Given the description of an element on the screen output the (x, y) to click on. 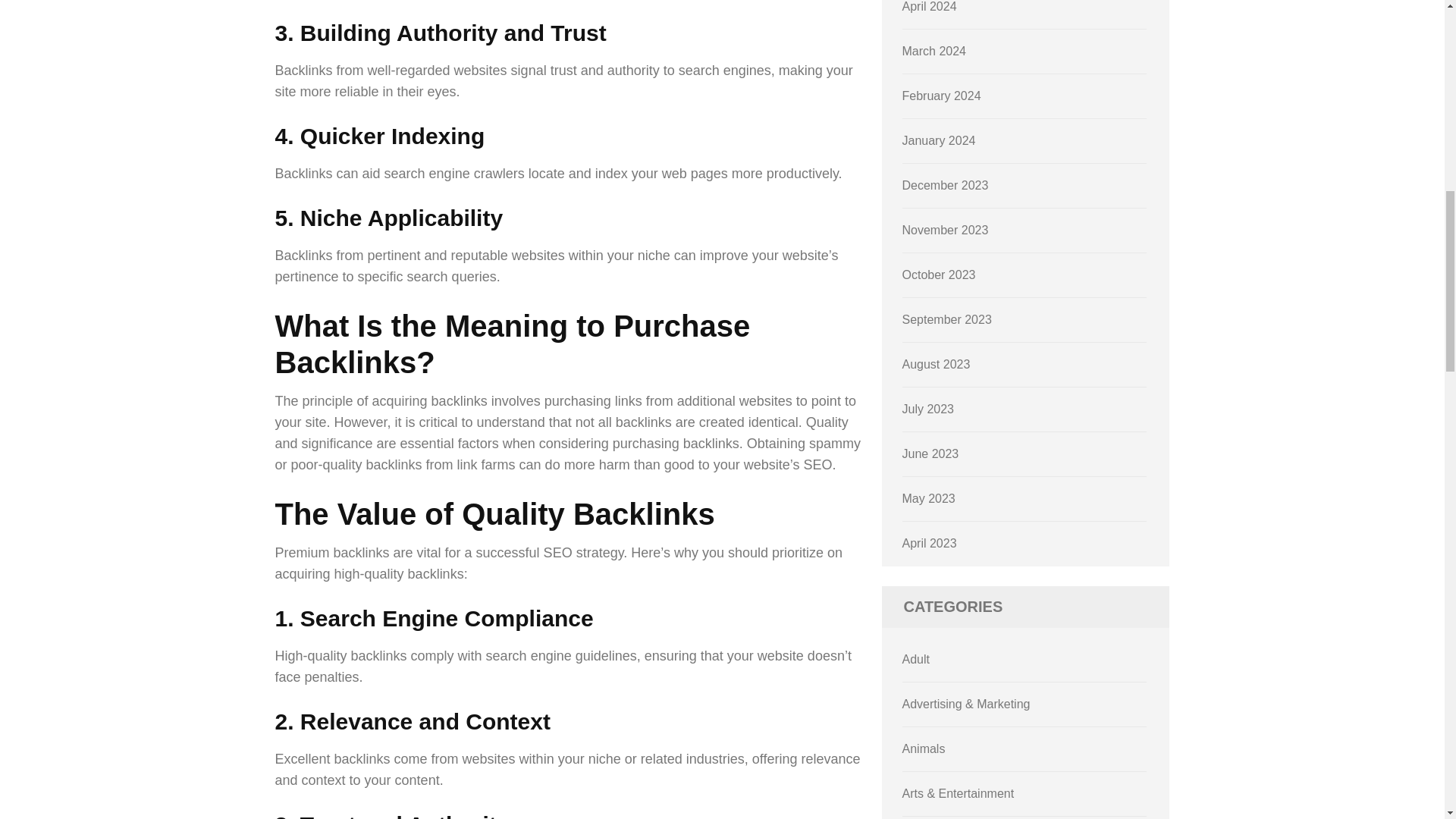
Animals (923, 748)
March 2024 (934, 51)
October 2023 (938, 274)
Adult (916, 658)
August 2023 (936, 364)
November 2023 (945, 229)
September 2023 (946, 318)
February 2024 (941, 95)
January 2024 (938, 140)
May 2023 (928, 498)
June 2023 (930, 453)
April 2023 (929, 543)
April 2024 (929, 6)
December 2023 (945, 185)
July 2023 (928, 408)
